Given the description of an element on the screen output the (x, y) to click on. 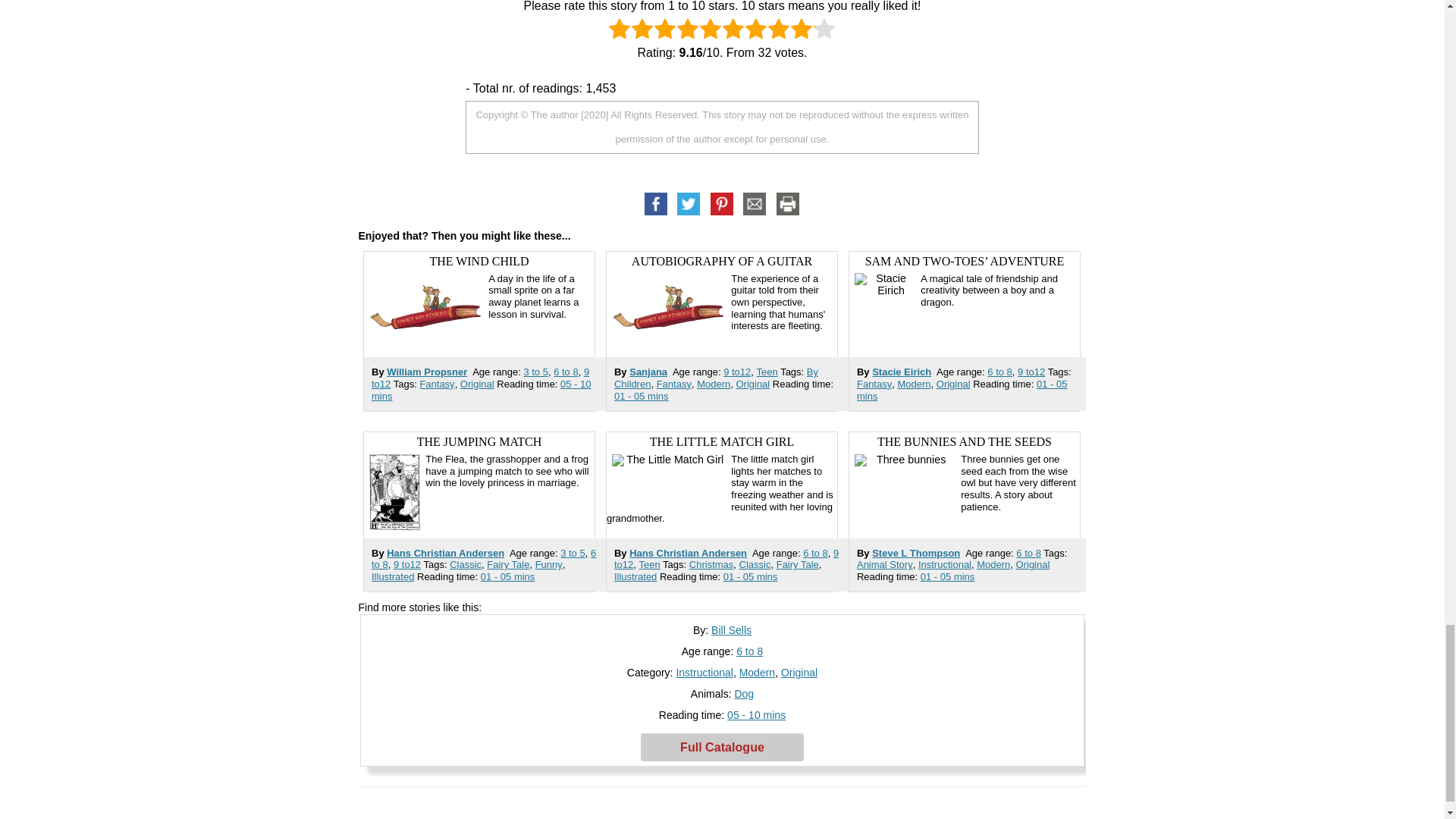
pinterest (722, 204)
email (754, 204)
facebook (656, 204)
twitter (688, 204)
print (788, 204)
